Given the description of an element on the screen output the (x, y) to click on. 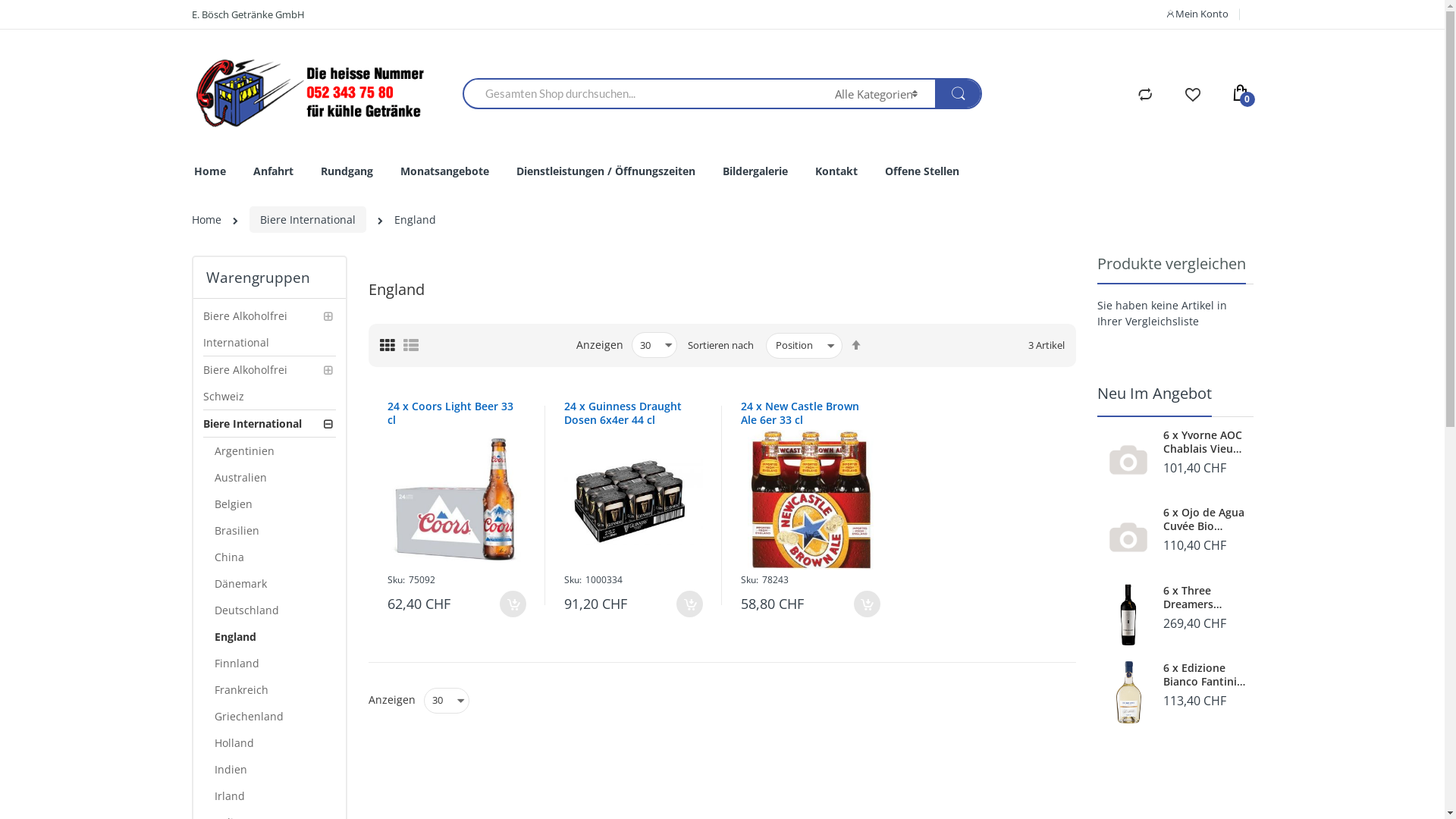
24 x Guinness Draught Dosen 6x4er 44 cl Element type: text (629, 412)
6 x Edizione Bianco Fantini 14.5% Vol. 2022 75 cl Element type: text (1204, 674)
Australien Element type: text (274, 477)
Biere Alkoholfrei International Element type: text (269, 329)
Kontakt Element type: text (835, 170)
Finnland Element type: text (274, 662)
Indien Element type: text (274, 769)
Argentinien Element type: text (274, 450)
China Element type: text (274, 556)
In den Warenkorb Element type: hover (689, 603)
In den Warenkorb Element type: hover (866, 603)
Rundgang Element type: text (345, 170)
24 x New Castle Brown Ale 6er 33 cl Element type: text (806, 412)
Brasilien Element type: text (274, 530)
24 x Coors Light Beer 33 cl Element type: text (452, 412)
Biere International Element type: text (269, 423)
Deutschland Element type: text (274, 609)
Biere International Element type: text (306, 219)
Griechenland Element type: text (274, 715)
In den Warenkorb Element type: hover (512, 603)
Anfahrt Element type: text (273, 170)
In absteigender Reihenfolge Element type: text (855, 344)
Offene Stellen Element type: text (921, 170)
Irland Element type: text (274, 795)
Belgien Element type: text (274, 503)
Holland Element type: text (274, 742)
Biere Alkoholfrei Schweiz Element type: text (269, 383)
Home Element type: text (205, 219)
Monatsangebote Element type: text (444, 170)
Frankreich Element type: text (274, 689)
England Element type: text (274, 636)
Home Element type: text (209, 170)
Liste Element type: text (410, 345)
Suche Element type: hover (957, 93)
Bildergalerie Element type: text (754, 170)
